Given the description of an element on the screen output the (x, y) to click on. 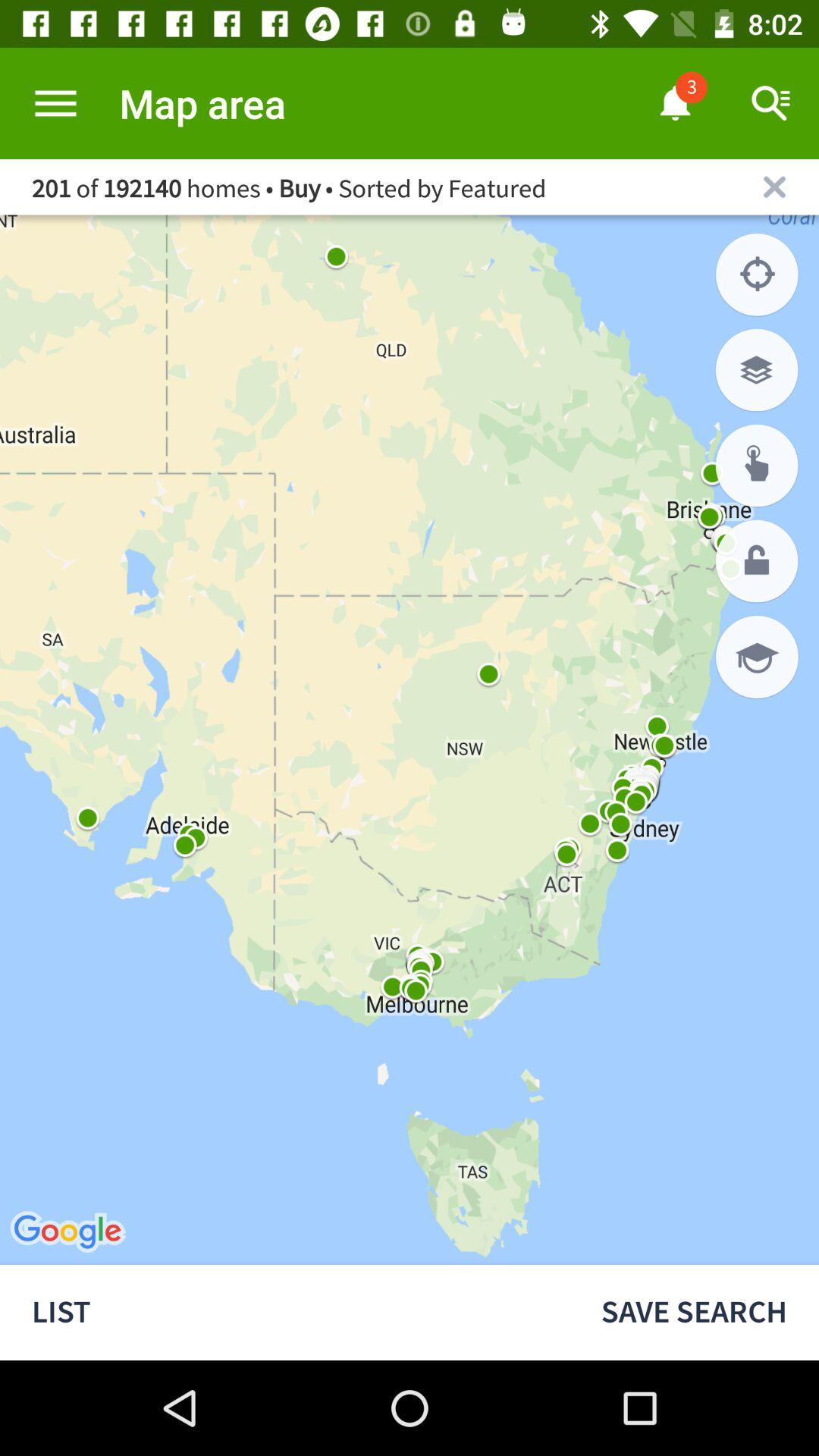
click to lock (756, 561)
